Given the description of an element on the screen output the (x, y) to click on. 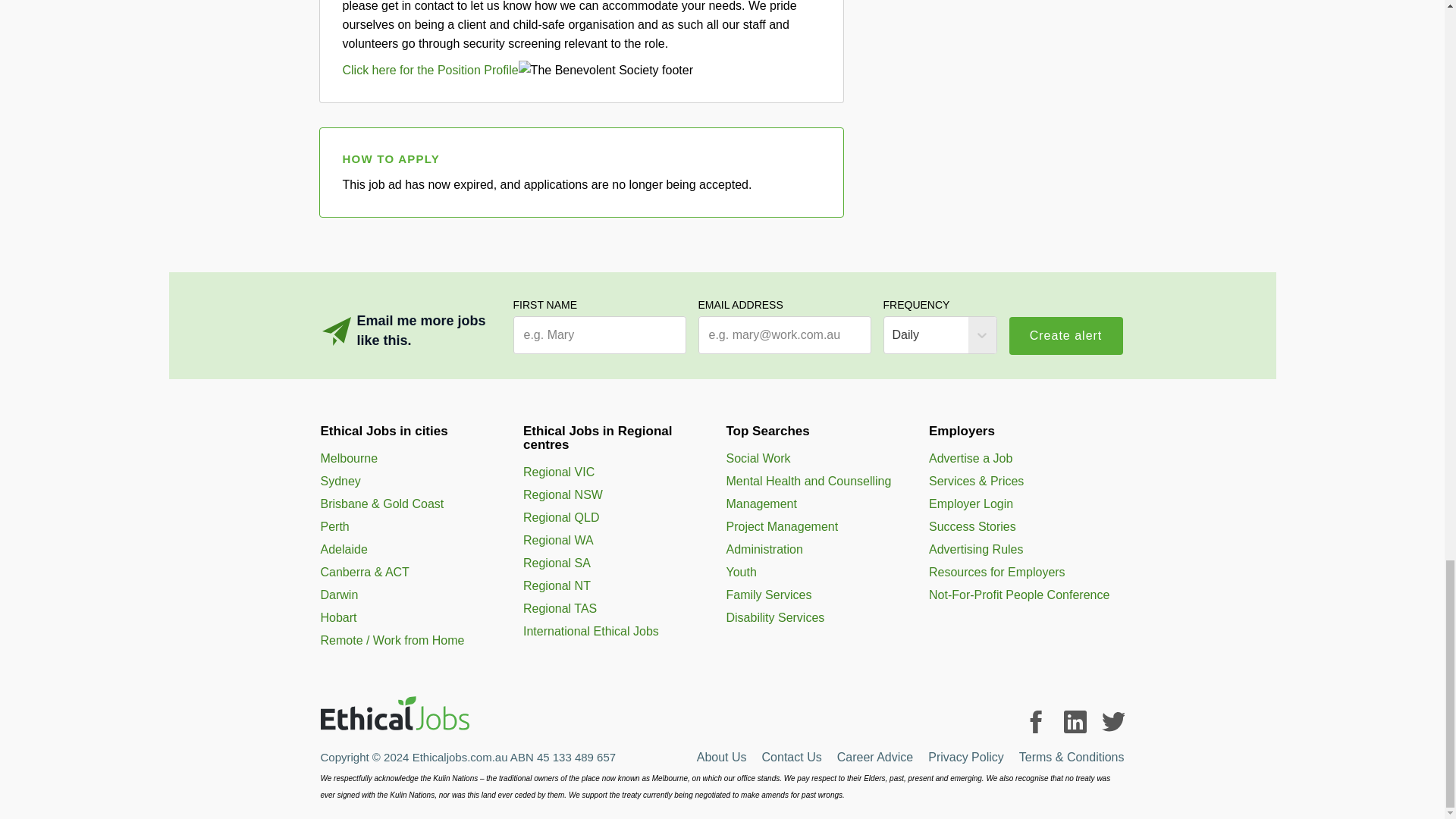
Click here for the Position Profile (429, 67)
